Given the description of an element on the screen output the (x, y) to click on. 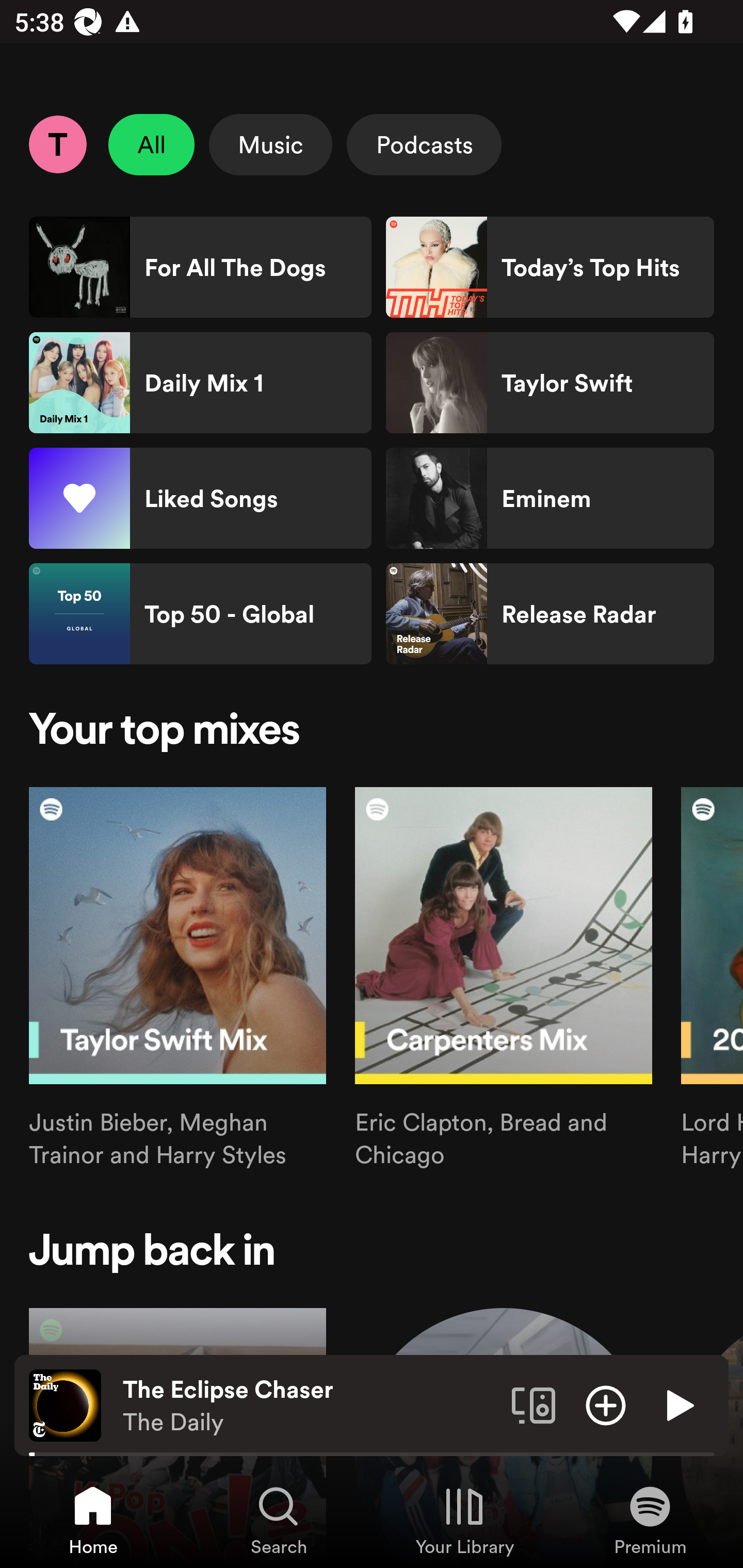
Profile (57, 144)
All Unselect All (151, 144)
Music Select Music (270, 144)
Podcasts Select Podcasts (423, 144)
For All The Dogs Shortcut For All The Dogs (199, 267)
Today’s Top Hits Shortcut Today’s Top Hits (549, 267)
Daily Mix 1 Shortcut Daily Mix 1 (199, 382)
Taylor Swift Shortcut Taylor Swift (549, 382)
Liked Songs Shortcut Liked Songs (199, 498)
Eminem Shortcut Eminem (549, 498)
Top 50 - Global Shortcut Top 50 - Global (199, 613)
Release Radar Shortcut Release Radar (549, 613)
The Eclipse Chaser The Daily (309, 1405)
The cover art of the currently playing track (64, 1404)
Connect to a device. Opens the devices menu (533, 1404)
Add item (605, 1404)
Play (677, 1404)
Home, Tab 1 of 4 Home Home (92, 1519)
Search, Tab 2 of 4 Search Search (278, 1519)
Your Library, Tab 3 of 4 Your Library Your Library (464, 1519)
Premium, Tab 4 of 4 Premium Premium (650, 1519)
